Given the description of an element on the screen output the (x, y) to click on. 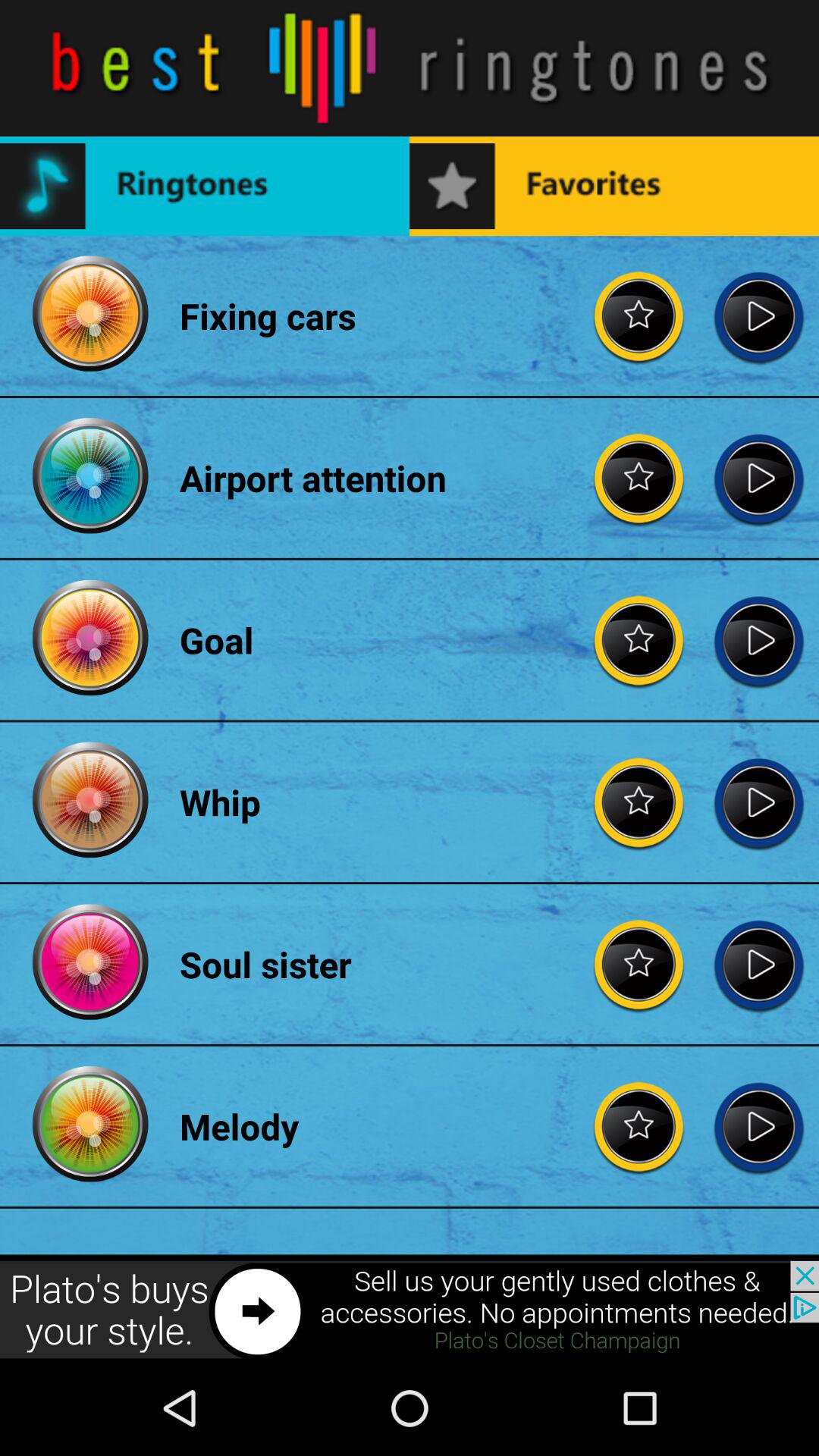
for rating (639, 801)
